Given the description of an element on the screen output the (x, y) to click on. 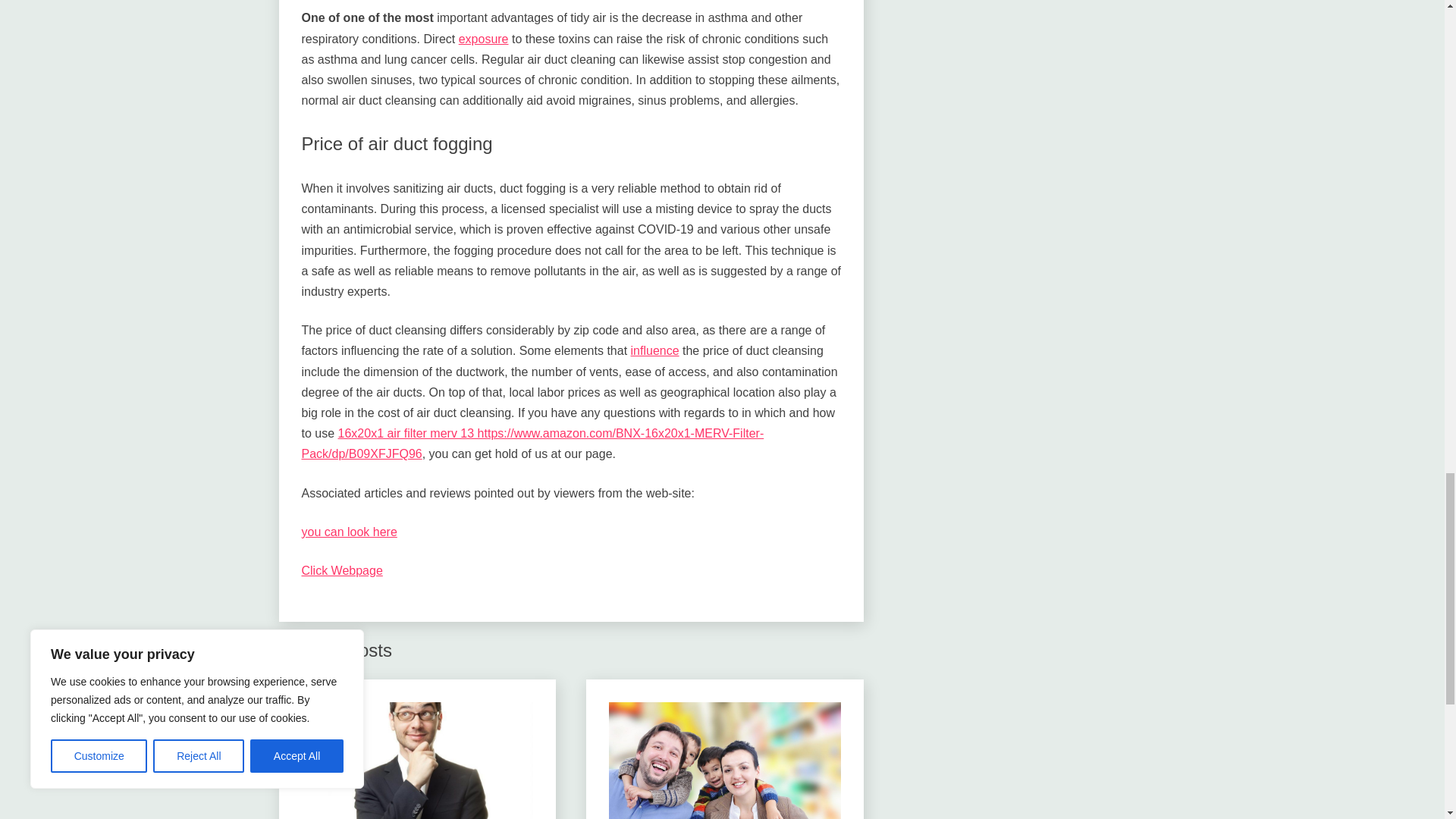
Click Webpage (341, 570)
you can look here (349, 531)
influence (654, 350)
exposure (483, 38)
